Given the description of an element on the screen output the (x, y) to click on. 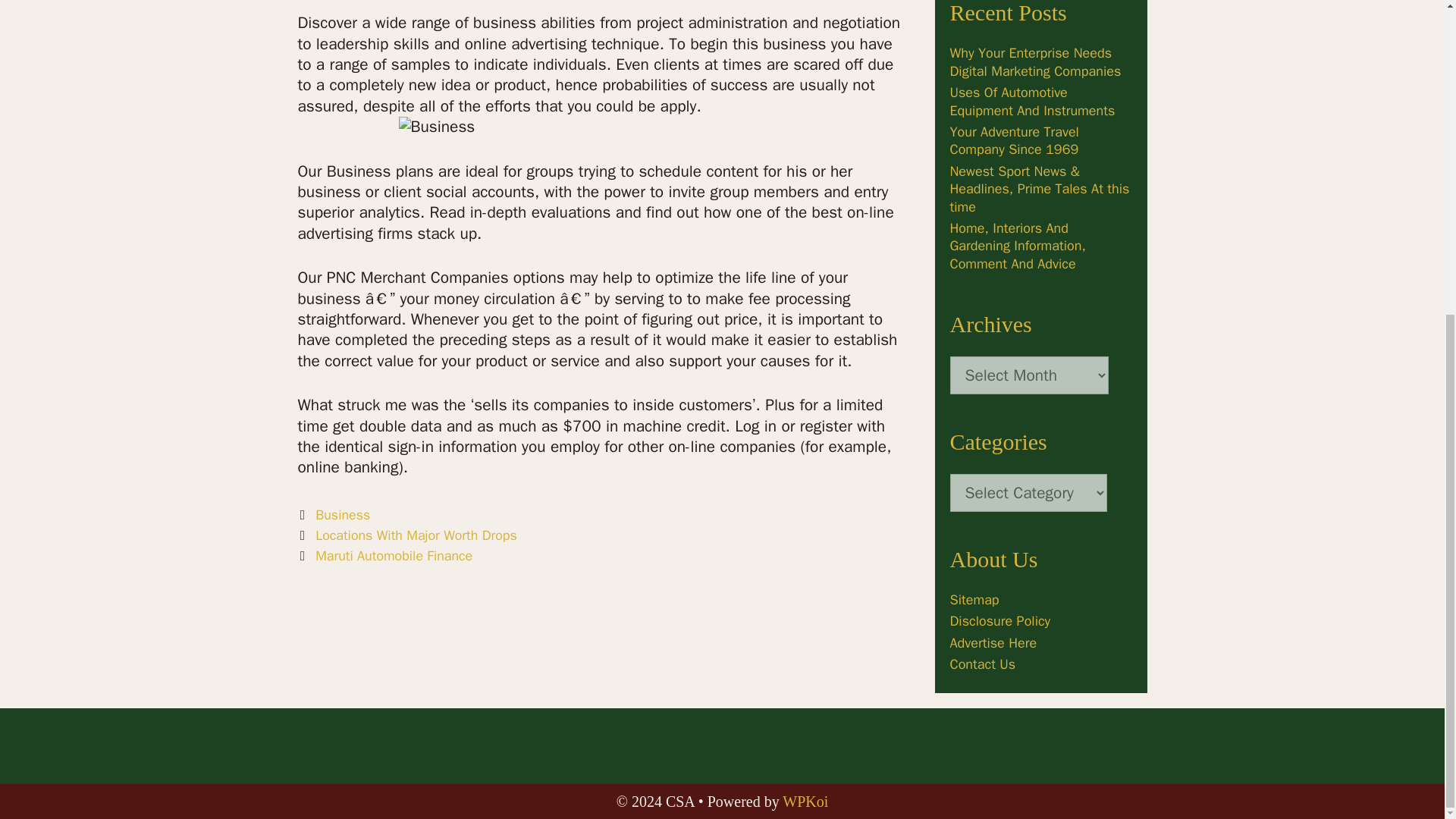
Maruti Automobile Finance (393, 555)
Next (384, 555)
Disclosure Policy (999, 620)
Contact Us (981, 664)
Advertise Here (992, 642)
Locations With Major Worth Drops (415, 535)
Why Your Enterprise Needs Digital Marketing Companies (1035, 61)
Previous (406, 535)
Business (342, 514)
Uses Of Automotive Equipment And Instruments (1032, 100)
Your Adventure Travel Company Since 1969 (1013, 140)
Sitemap (973, 599)
